Given the description of an element on the screen output the (x, y) to click on. 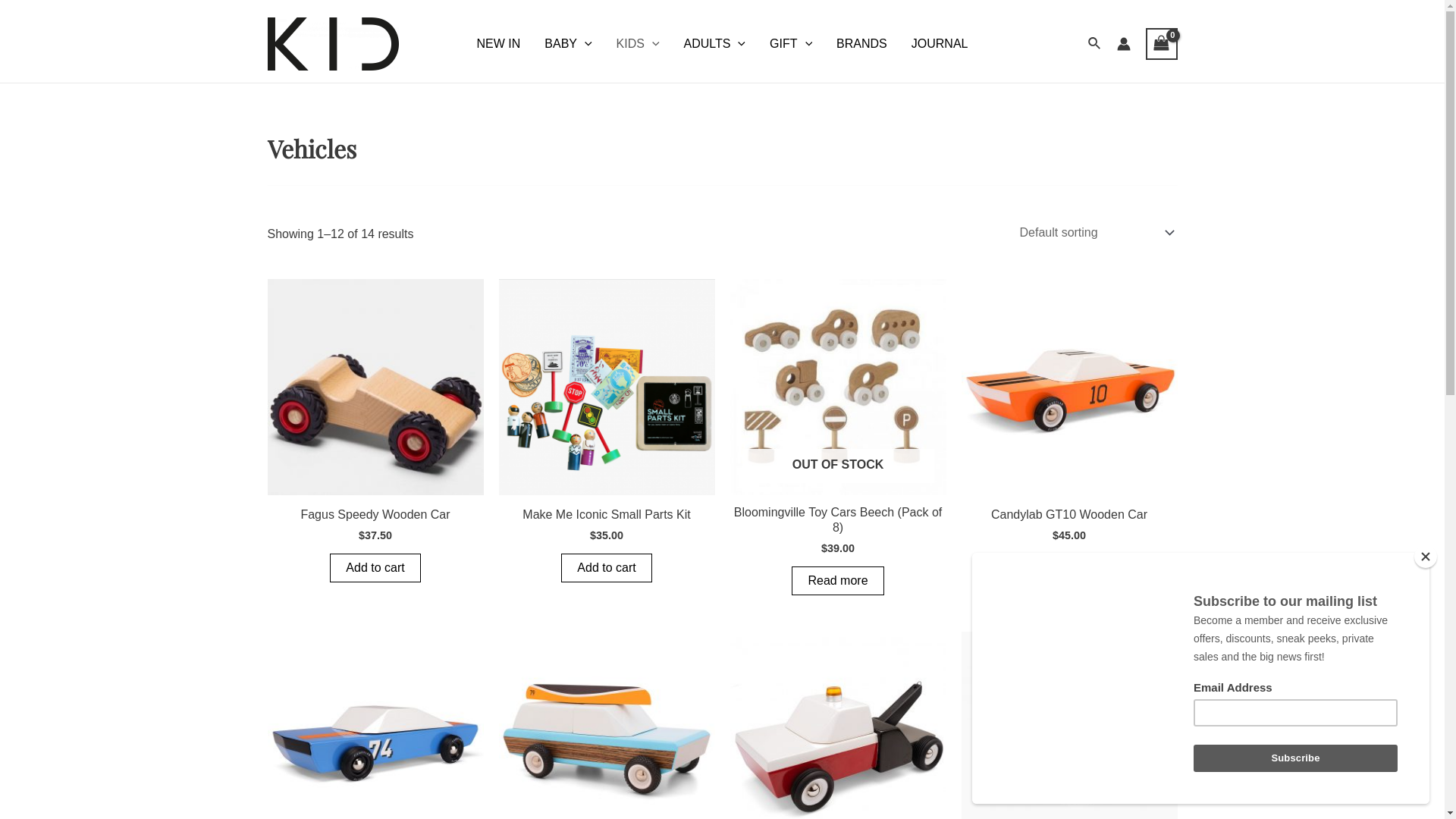
Bloomingville Toy Cars Beech (Pack of 8) Element type: text (837, 523)
JOURNAL Element type: text (939, 43)
OUT OF STOCK Element type: text (837, 387)
GIFT Element type: text (790, 43)
Add to cart Element type: text (374, 567)
BABY Element type: text (567, 43)
Search Element type: text (1094, 43)
Make Me Iconic Small Parts Kit Element type: text (606, 517)
Add to cart Element type: text (606, 567)
Fagus Speedy Wooden Car Element type: text (374, 517)
NEW IN Element type: text (498, 43)
KIDS Element type: text (637, 43)
BRANDS Element type: text (861, 43)
ADULTS Element type: text (714, 43)
Add to cart Element type: text (1068, 567)
Candylab GT10 Wooden Car Element type: text (1069, 517)
Read more Element type: text (837, 580)
